Given the description of an element on the screen output the (x, y) to click on. 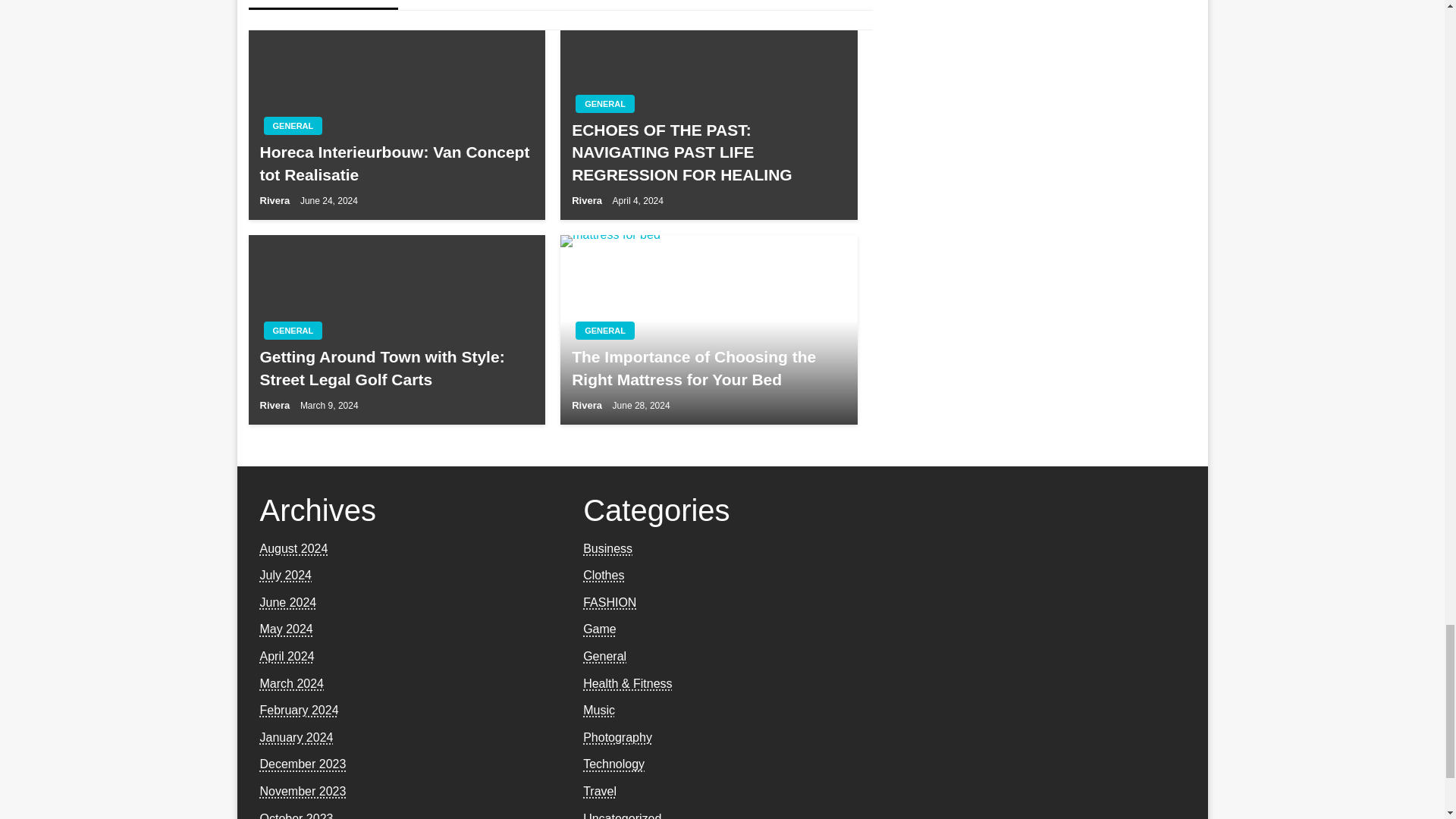
GENERAL (293, 126)
Rivera (588, 405)
GENERAL (604, 330)
GENERAL (293, 330)
GENERAL (604, 104)
Getting Around Town with Style: Street Legal Golf Carts (396, 367)
Rivera (588, 200)
Rivera (275, 405)
Horeca Interieurbouw: Van Concept tot Realisatie (396, 162)
Rivera (275, 200)
